Given the description of an element on the screen output the (x, y) to click on. 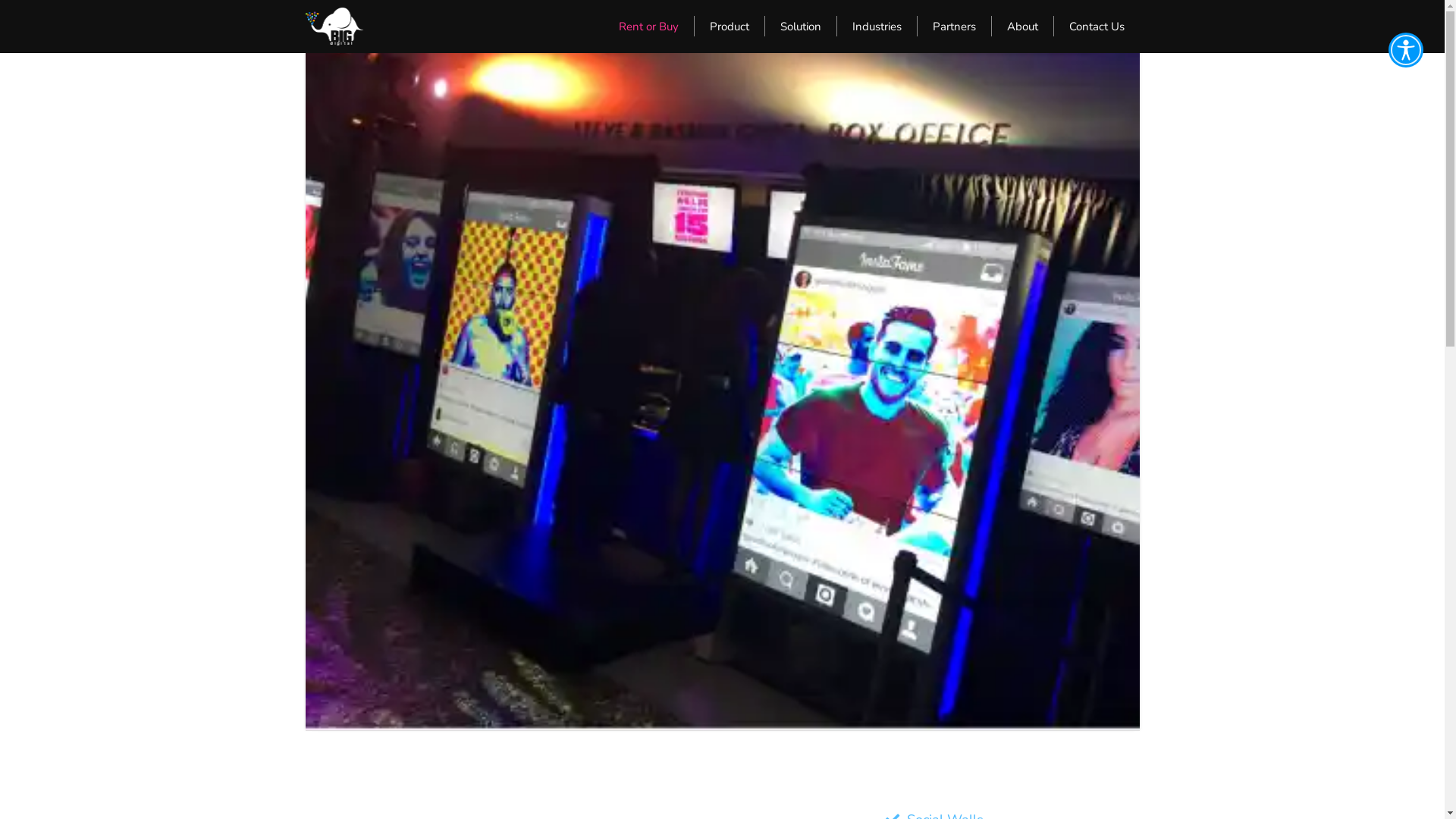
Product Element type: text (729, 25)
Contact Us Element type: text (1096, 25)
Rent or Buy Element type: text (648, 25)
Solution Element type: text (800, 25)
Partners Element type: text (954, 25)
Industries Element type: text (876, 25)
About Element type: text (1022, 25)
